Given the description of an element on the screen output the (x, y) to click on. 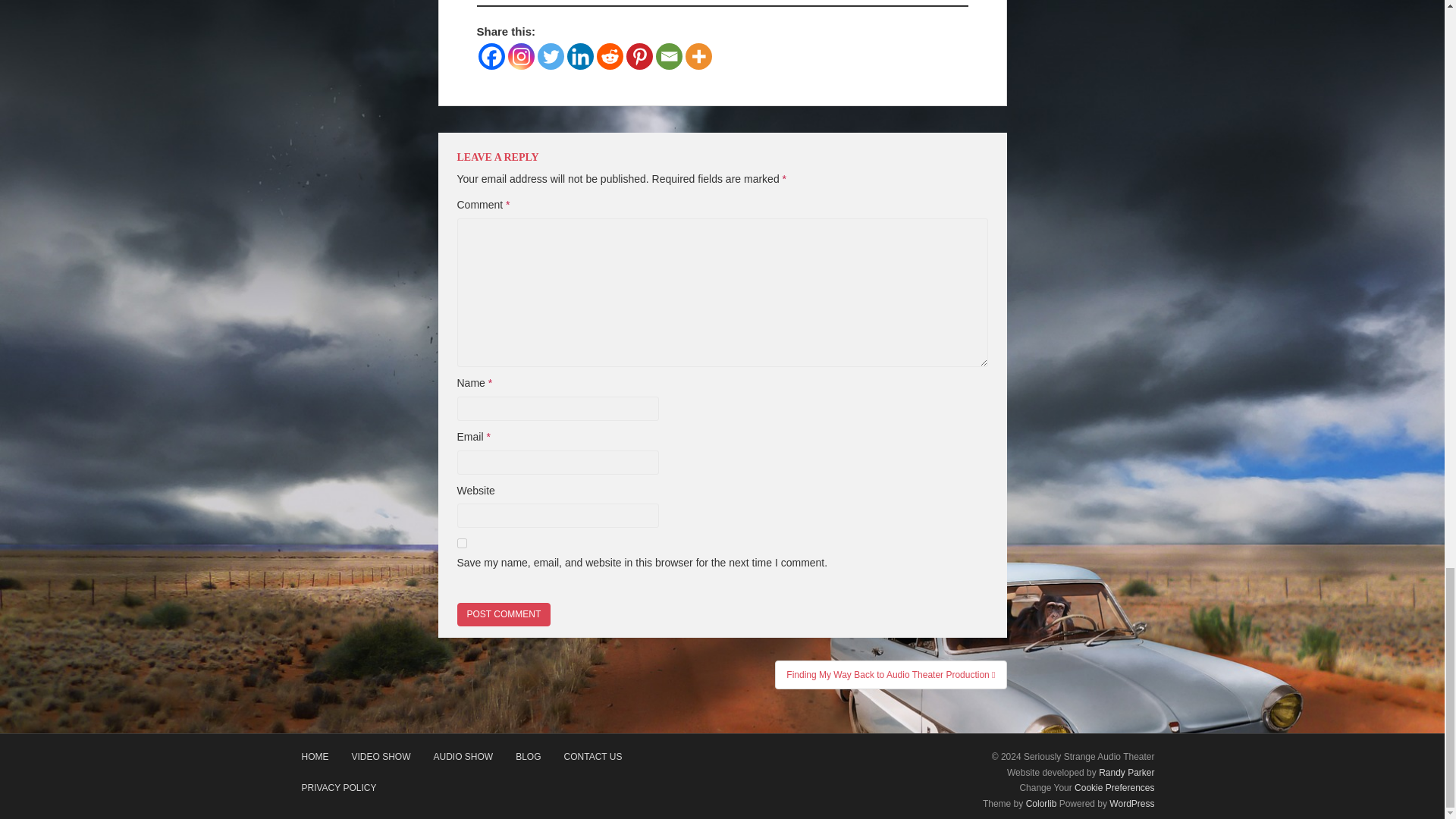
Email (668, 56)
Post Comment (503, 614)
Post Comment (503, 614)
Finding My Way Back to Audio Theater Production (890, 674)
Twitter (550, 56)
Instagram (521, 56)
Linkedin (580, 56)
yes (461, 542)
Facebook (490, 56)
More (698, 56)
Please wait until Google reCAPTCHA is loaded. (503, 614)
Reddit (609, 56)
Pinterest (639, 56)
